Given the description of an element on the screen output the (x, y) to click on. 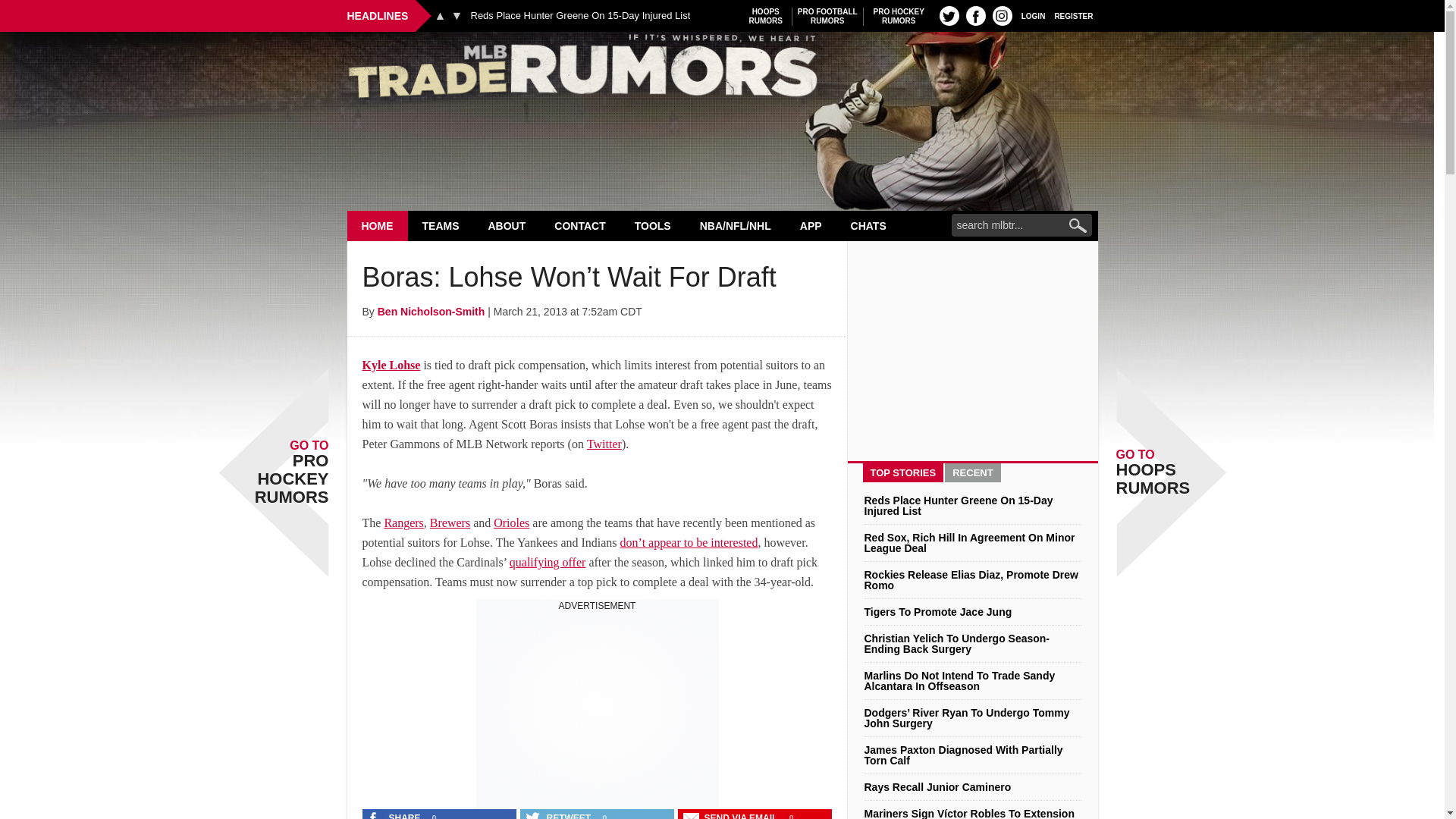
MLB Trade Rumors (898, 16)
Twitter profile (722, 69)
REGISTER (949, 15)
Search (827, 16)
LOGIN (1073, 15)
TEAMS (765, 16)
